Given the description of an element on the screen output the (x, y) to click on. 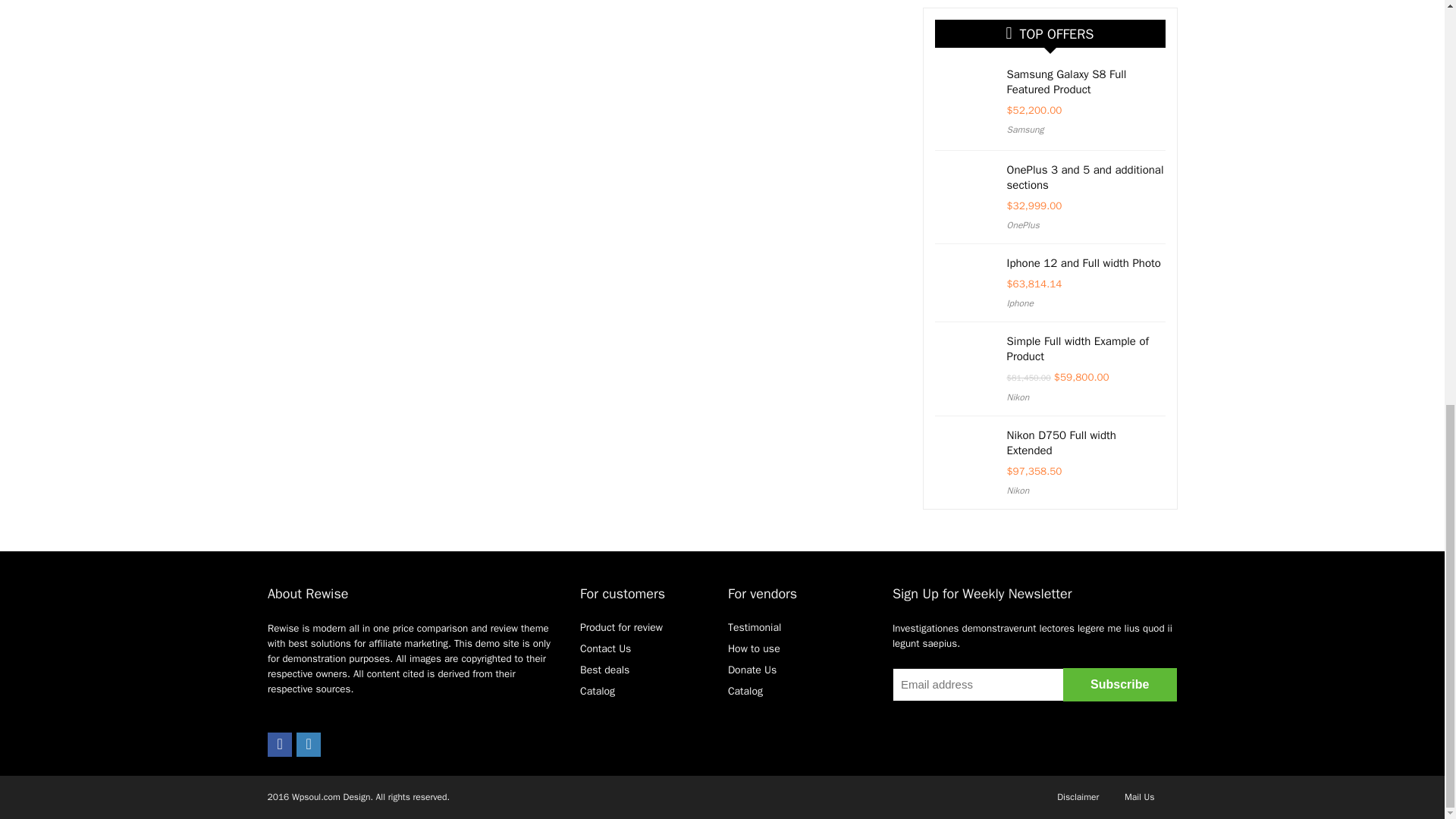
Facebook (279, 744)
Subscribe (1119, 684)
Instagramm (308, 744)
